Given the description of an element on the screen output the (x, y) to click on. 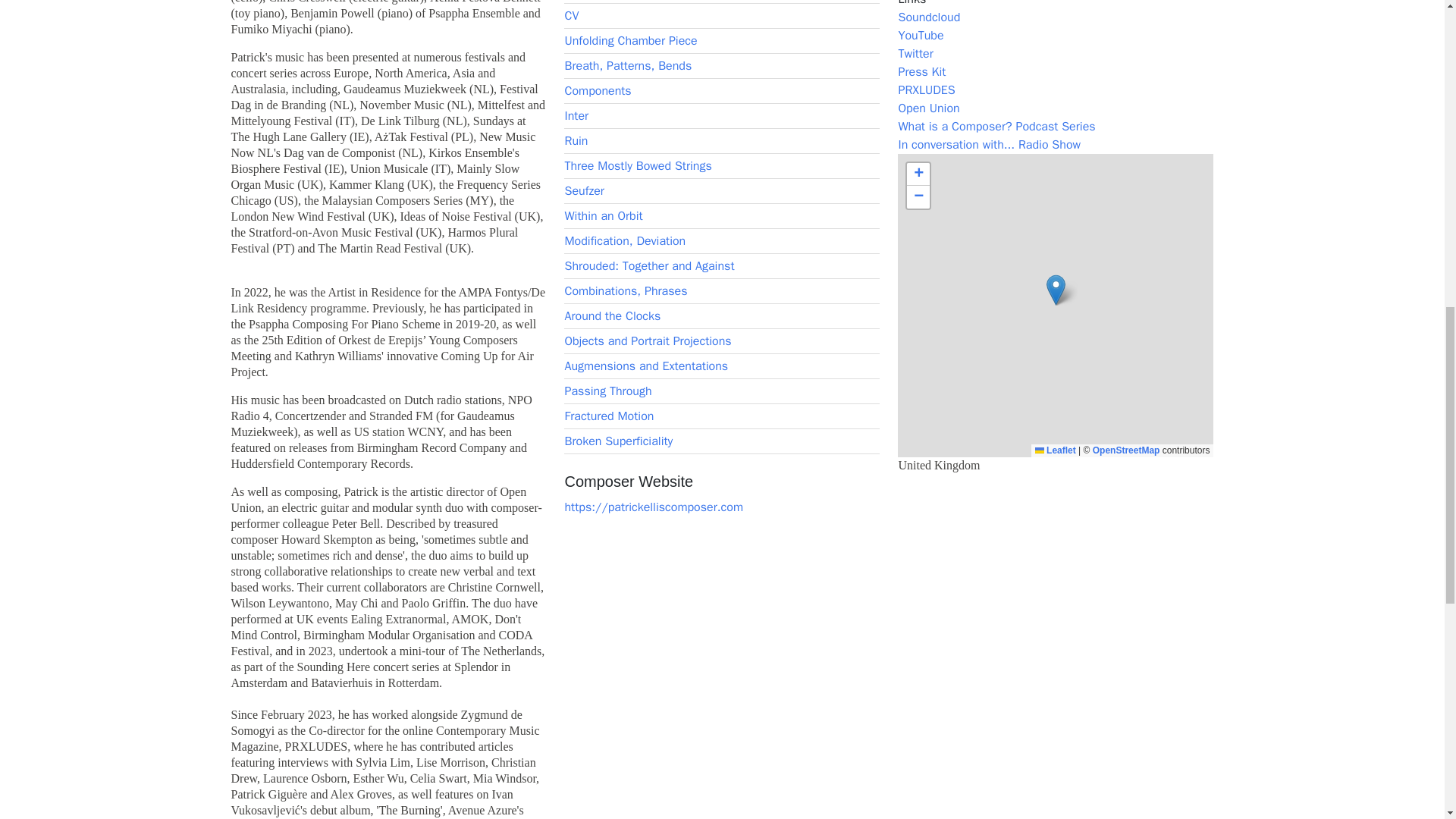
A JavaScript library for interactive maps (1055, 450)
Combinations, Phrases (625, 290)
Zoom out (918, 196)
Objects and Portrait Projections (647, 340)
CV (571, 15)
Zoom in (918, 173)
Seufzer (584, 191)
Shrouded: Together and Against (648, 265)
Modification, Deviation (624, 240)
Unfolding Chamber Piece (630, 40)
Breath, Patterns, Bends (627, 65)
Around the Clocks (612, 315)
Augmensions and Extentations (646, 365)
Inter (576, 115)
Within an Orbit (603, 215)
